Given the description of an element on the screen output the (x, y) to click on. 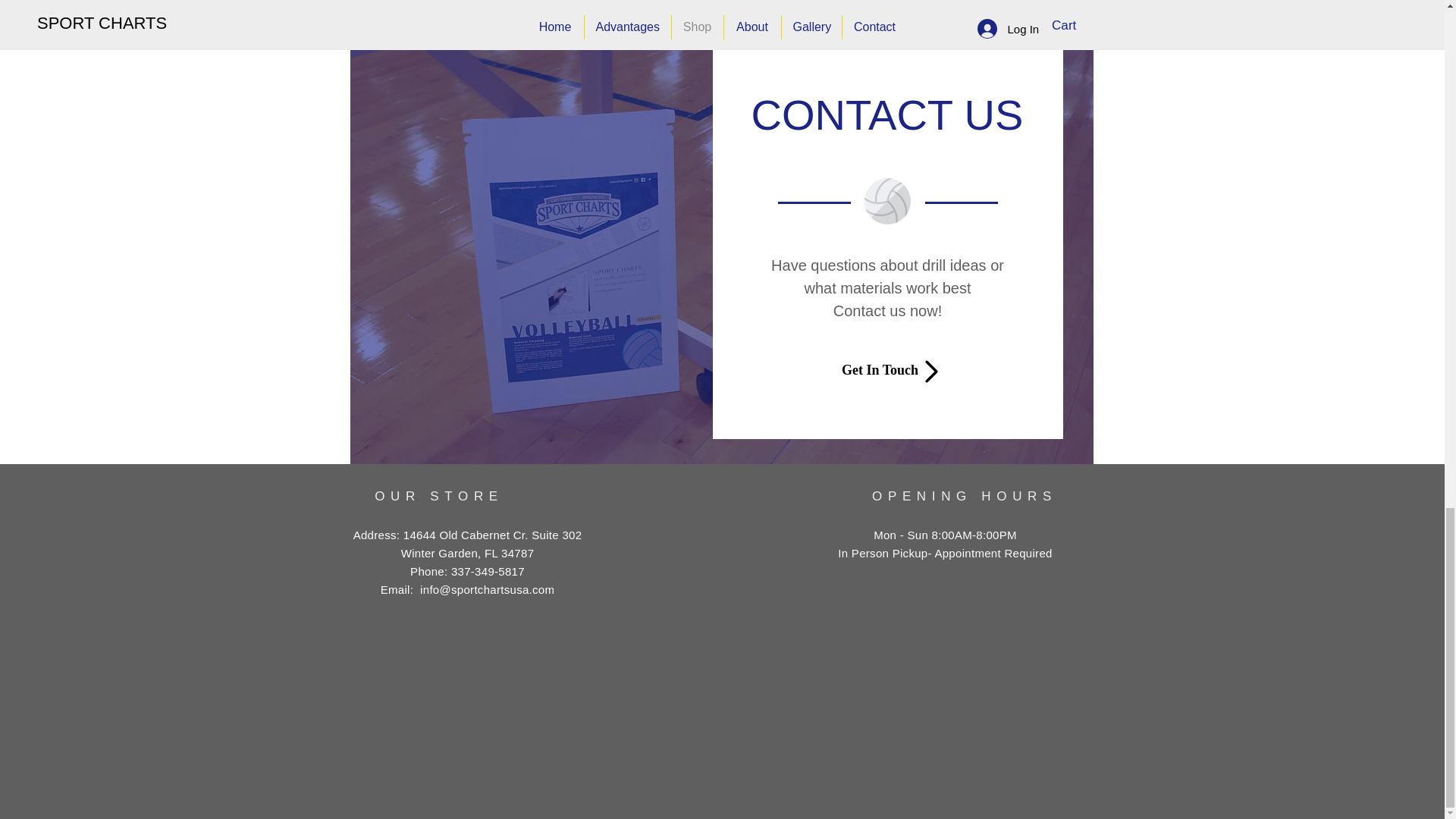
Mon - Sun 8:00AM-8:00PM (944, 534)
